Given the description of an element on the screen output the (x, y) to click on. 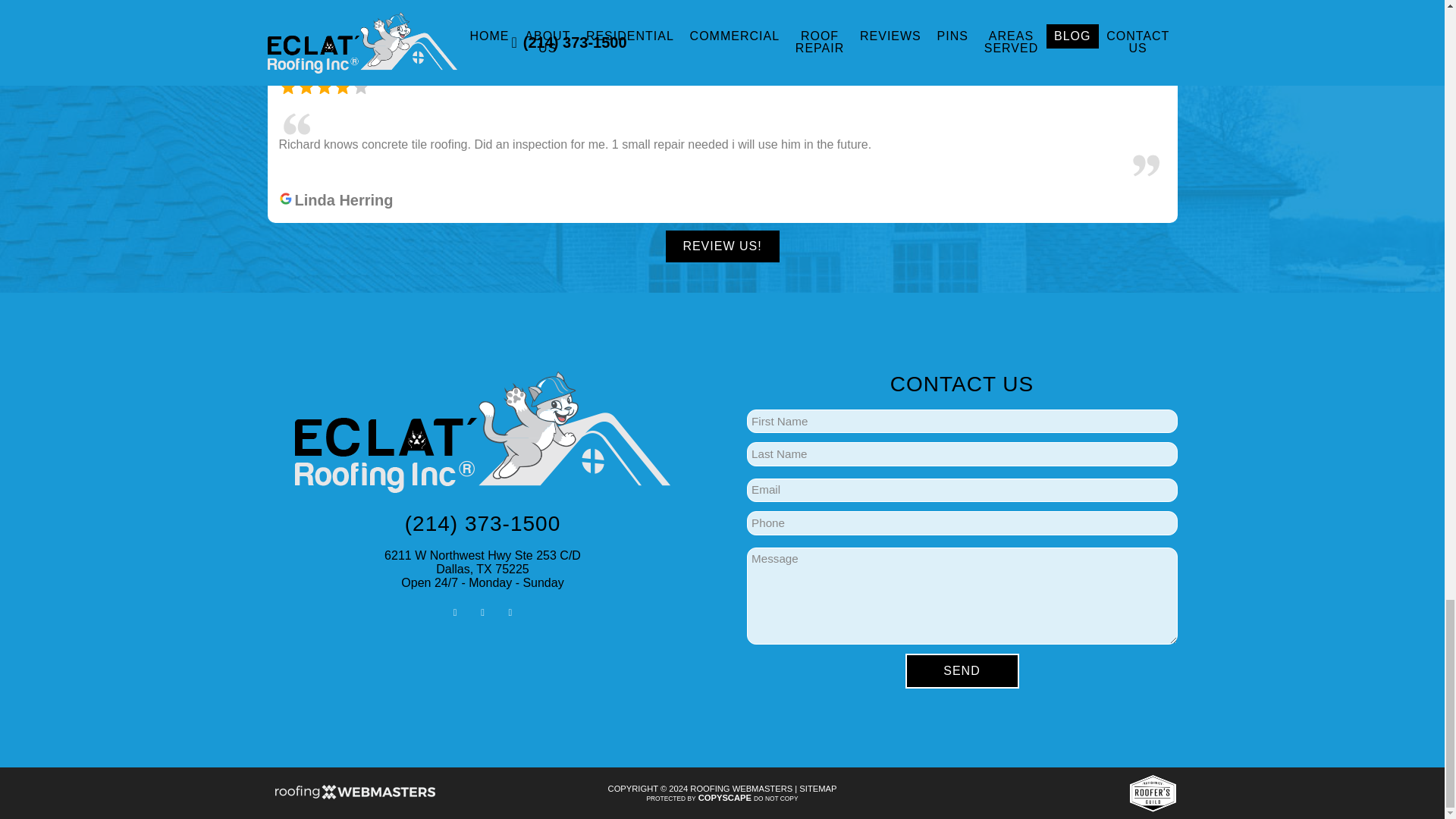
Send (962, 670)
